Given the description of an element on the screen output the (x, y) to click on. 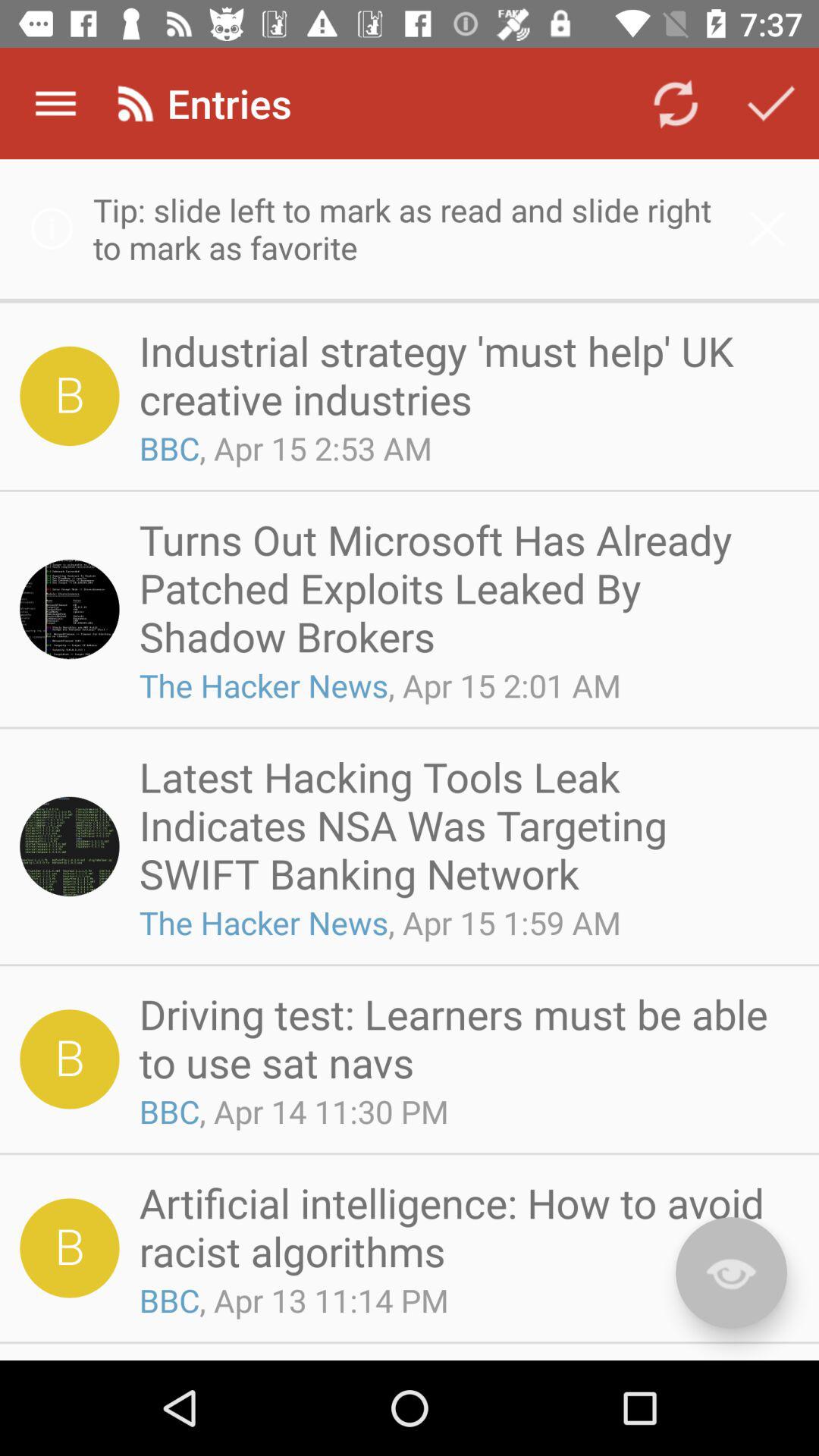
select the icon above bbc apr 15 (463, 374)
